Given the description of an element on the screen output the (x, y) to click on. 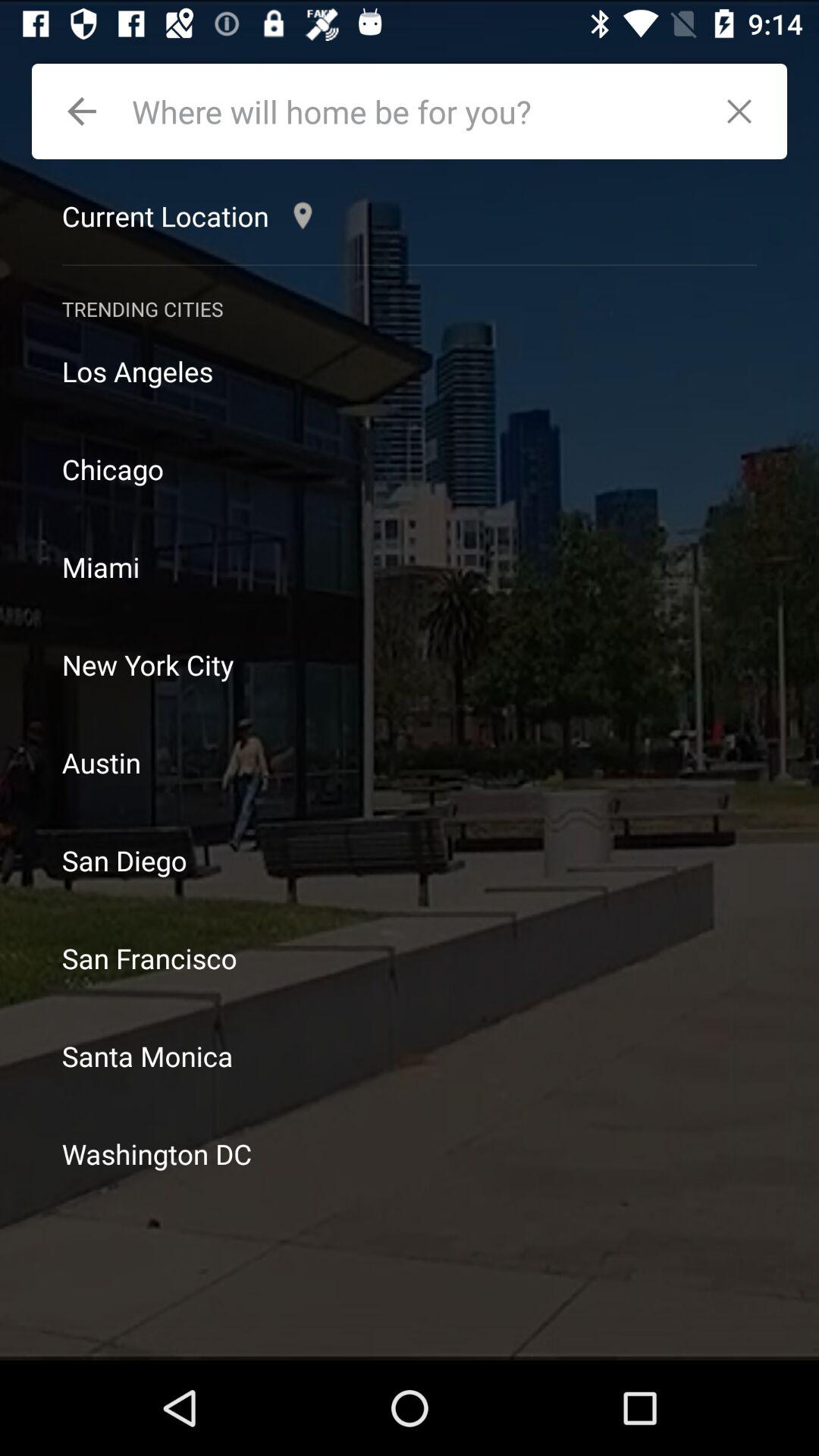
enter text (414, 111)
